Given the description of an element on the screen output the (x, y) to click on. 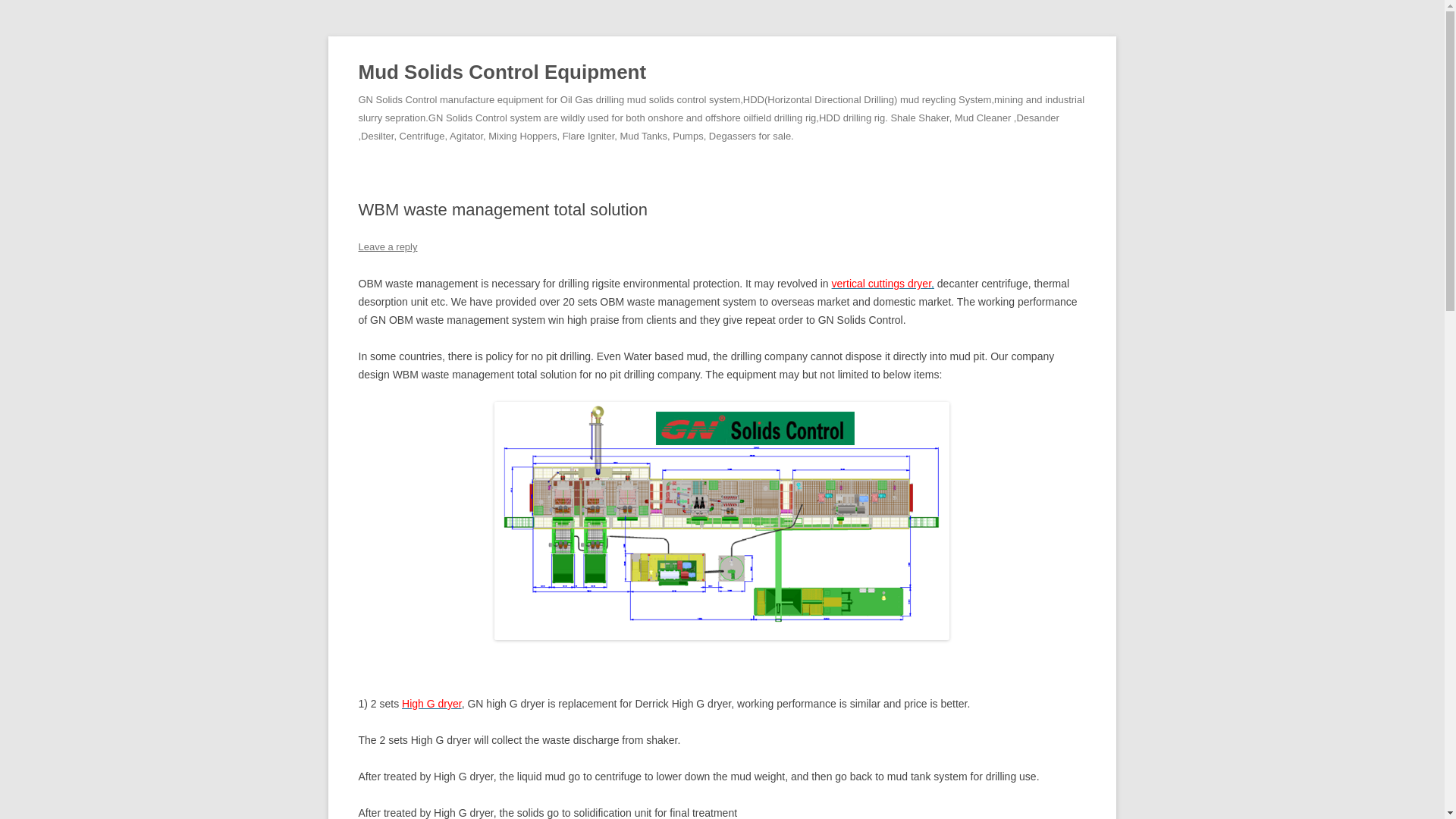
high G dryer (431, 703)
High G dryer (431, 703)
vertical cuttings dryer, (882, 283)
vertical cuttings dryer  (882, 283)
Leave a reply (387, 246)
2016.1.13 WBM waste management total solution (722, 520)
Mud Solids Control Equipment (502, 72)
